Given the description of an element on the screen output the (x, y) to click on. 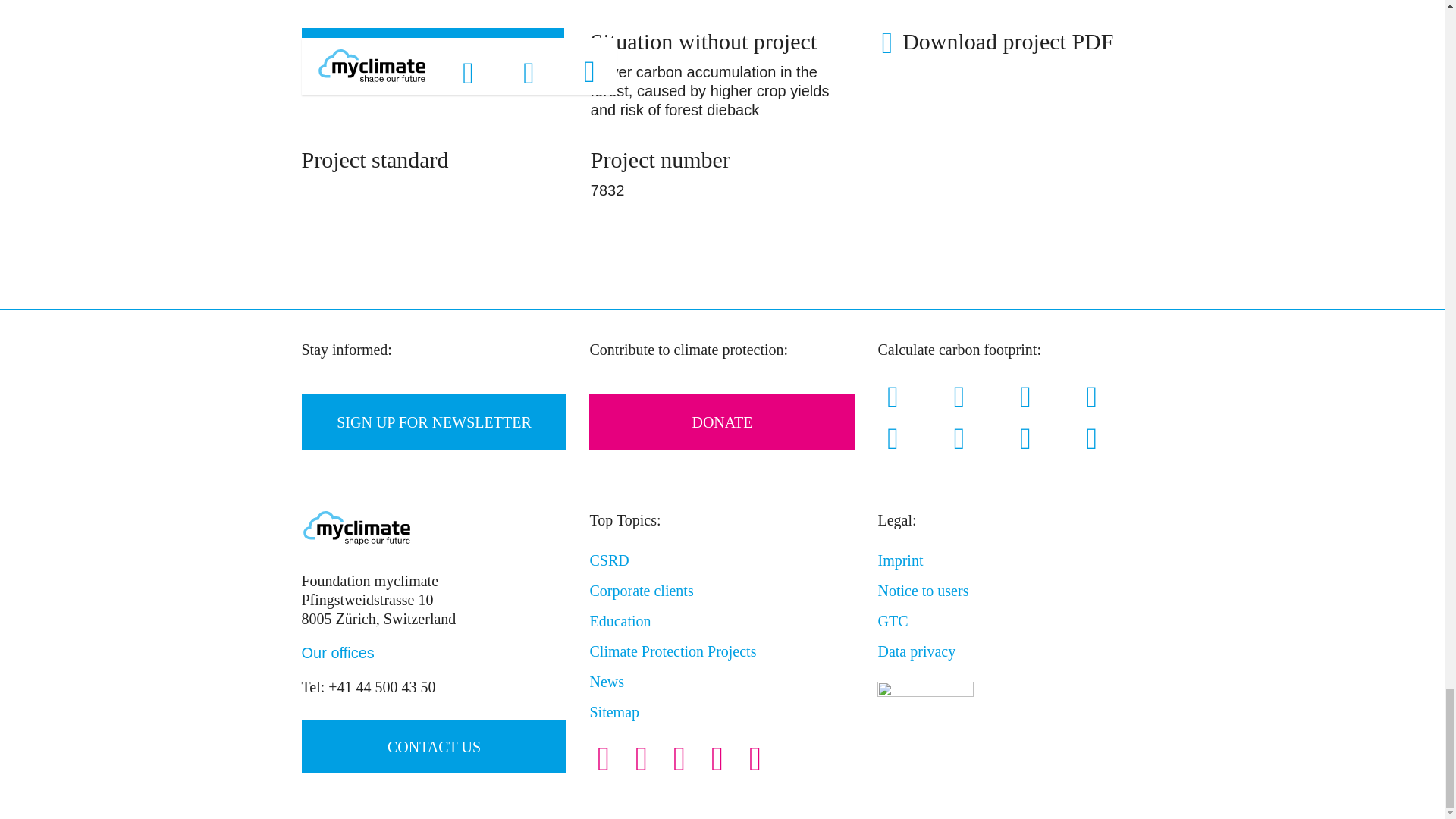
SIGN UP FOR NEWSLETTER (434, 421)
Download project PDF (996, 44)
SUPPORT PROJECTS (432, 55)
DONATE (721, 421)
